Given the description of an element on the screen output the (x, y) to click on. 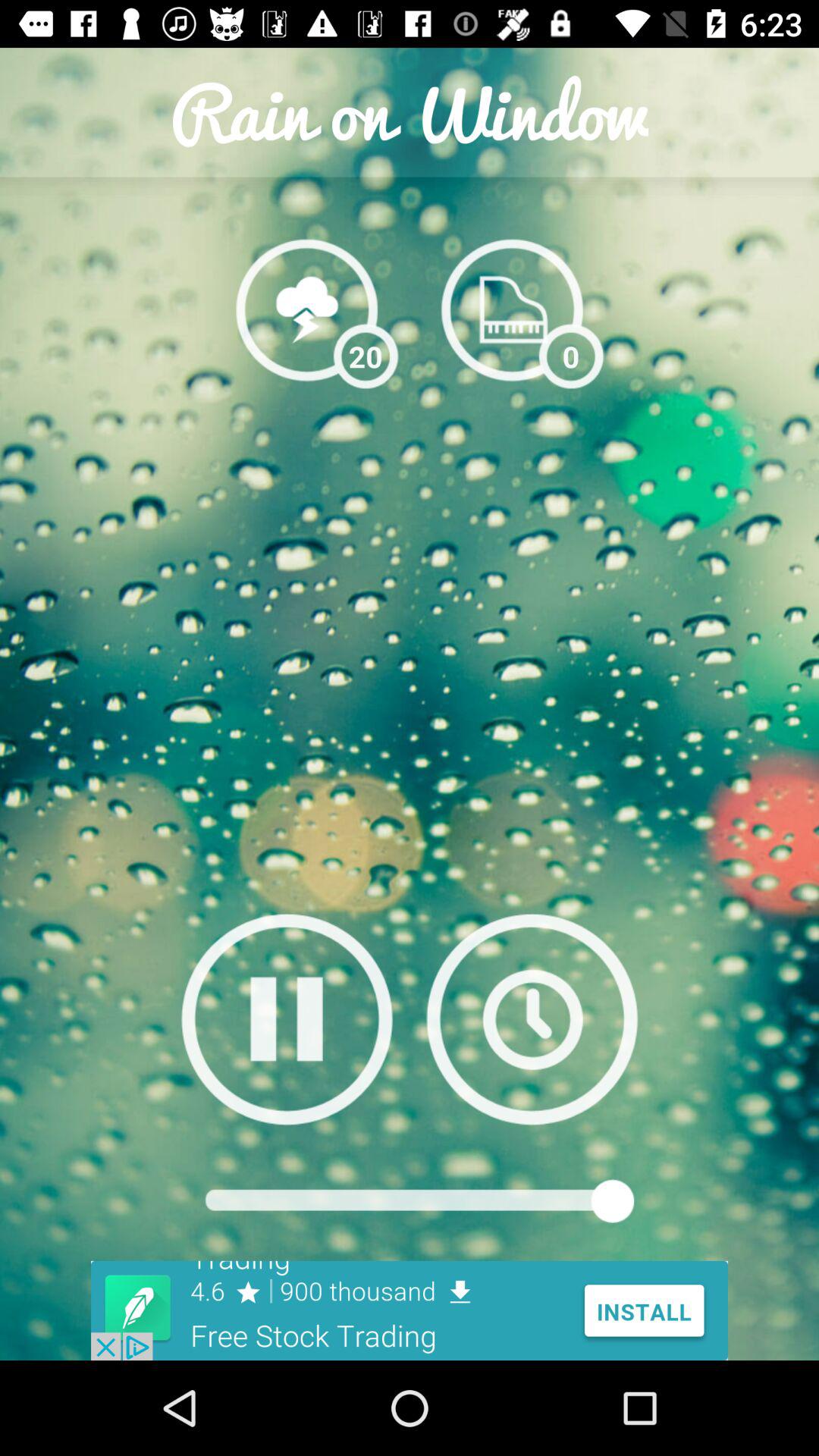
pause rain sound (286, 1018)
